Given the description of an element on the screen output the (x, y) to click on. 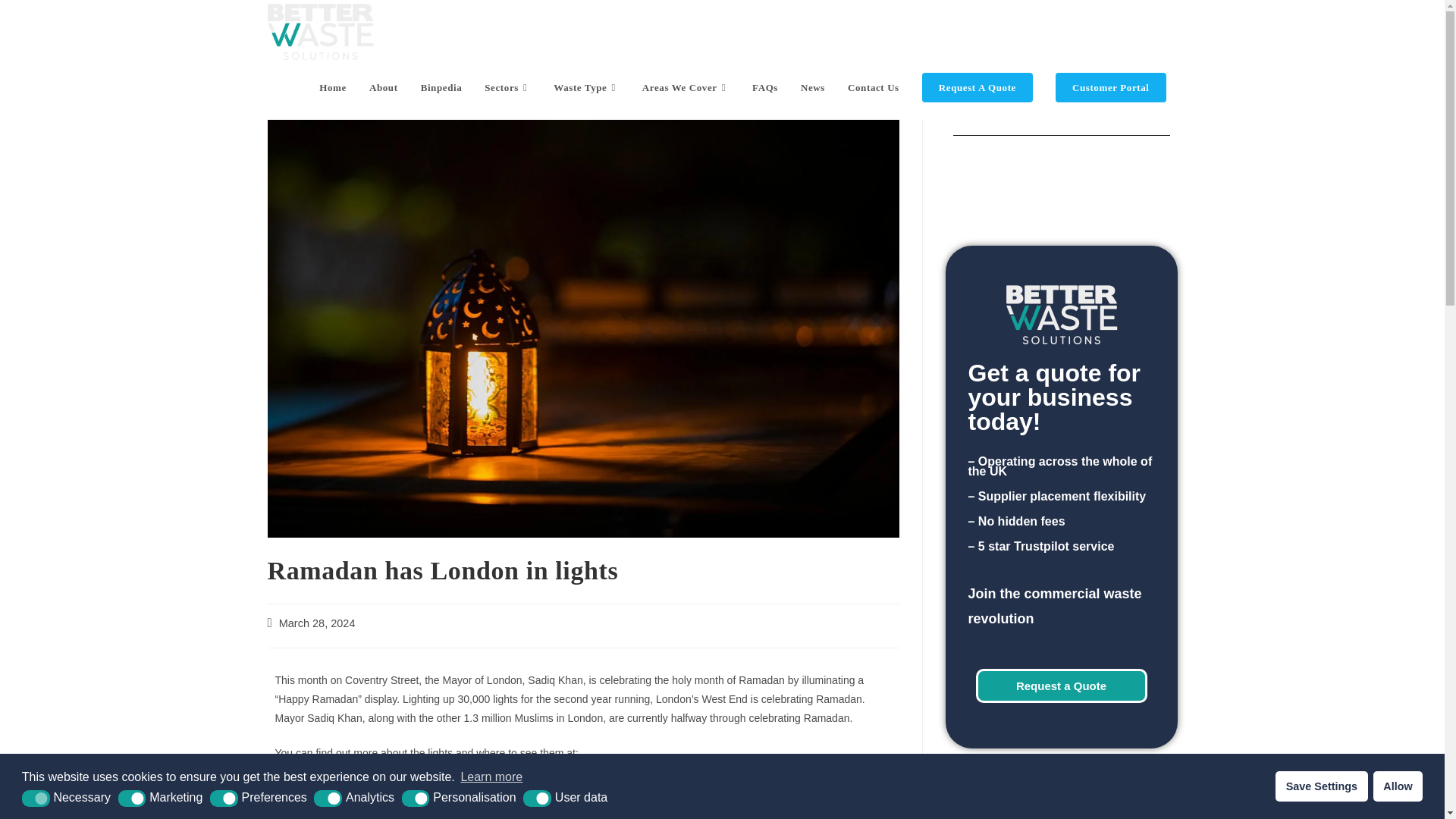
About (383, 87)
Binpedia (441, 87)
bws-bluebg (1061, 314)
FAQs (765, 87)
Home (332, 87)
Areas We Cover (685, 87)
News (812, 87)
Waste Type (585, 87)
Sectors (507, 87)
